Given the description of an element on the screen output the (x, y) to click on. 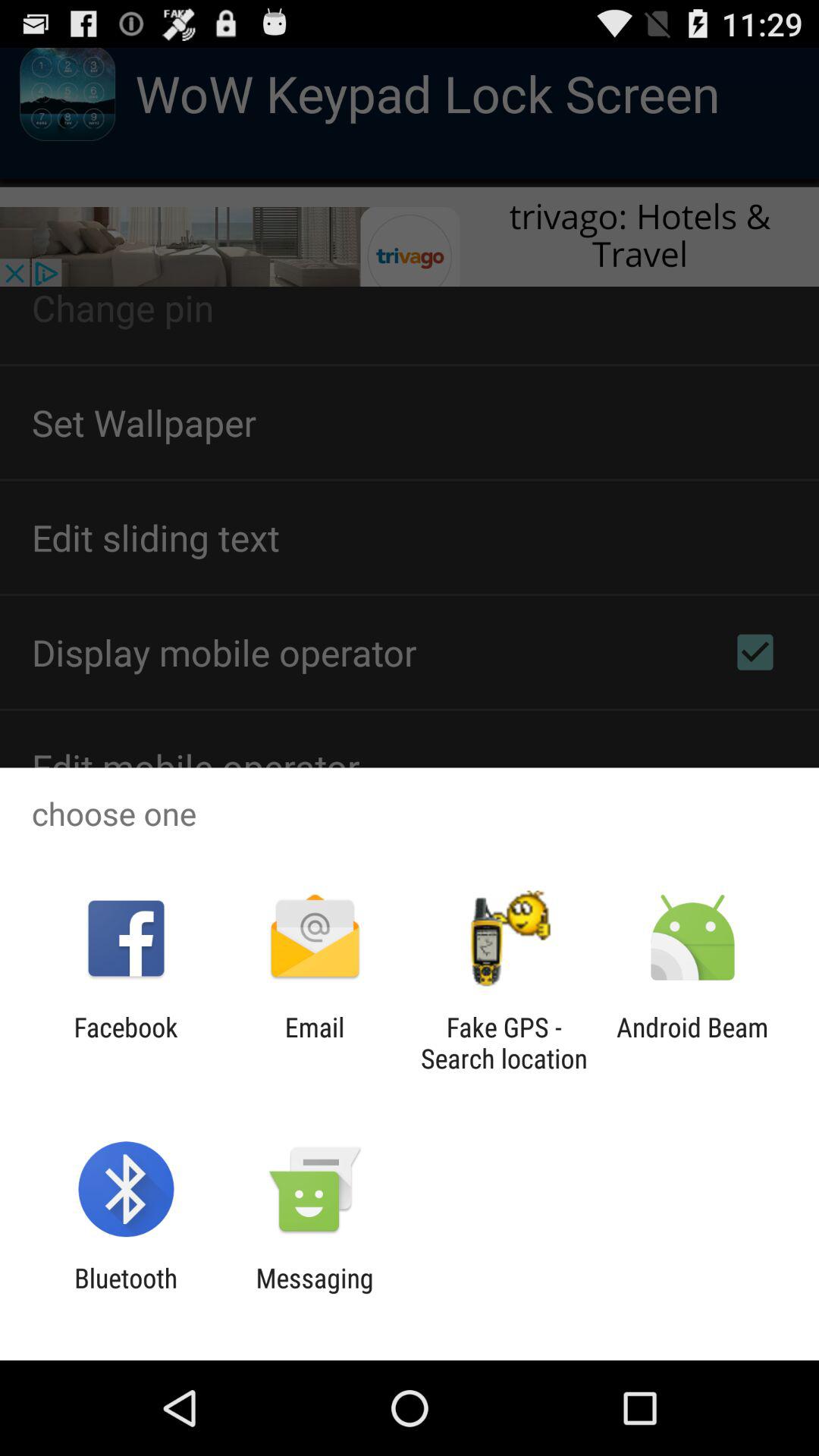
turn on the item next to android beam (503, 1042)
